Given the description of an element on the screen output the (x, y) to click on. 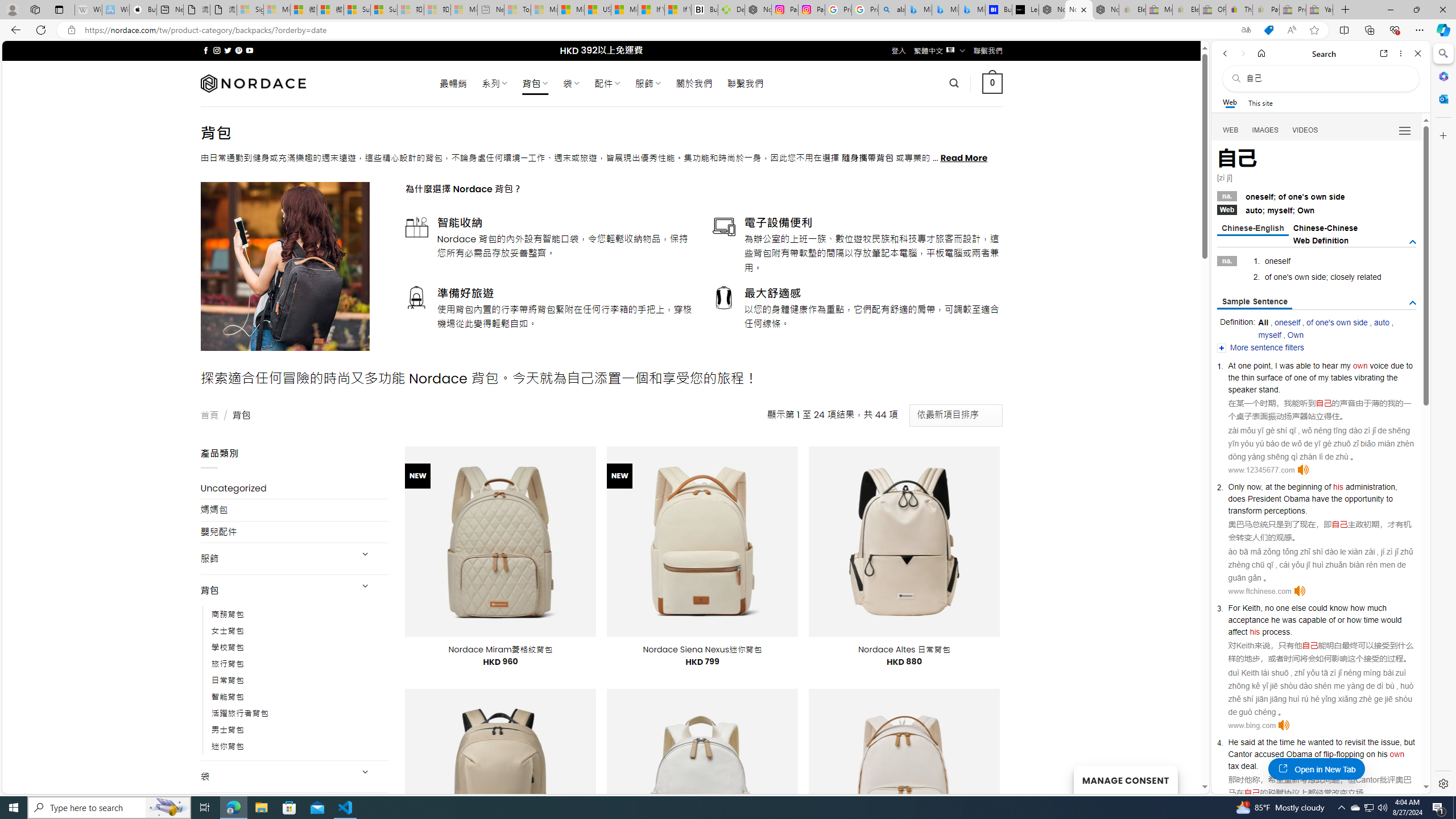
opportunity (1363, 498)
accused (1268, 753)
affect (1237, 631)
at (1259, 741)
wanted (1320, 741)
